Given the description of an element on the screen output the (x, y) to click on. 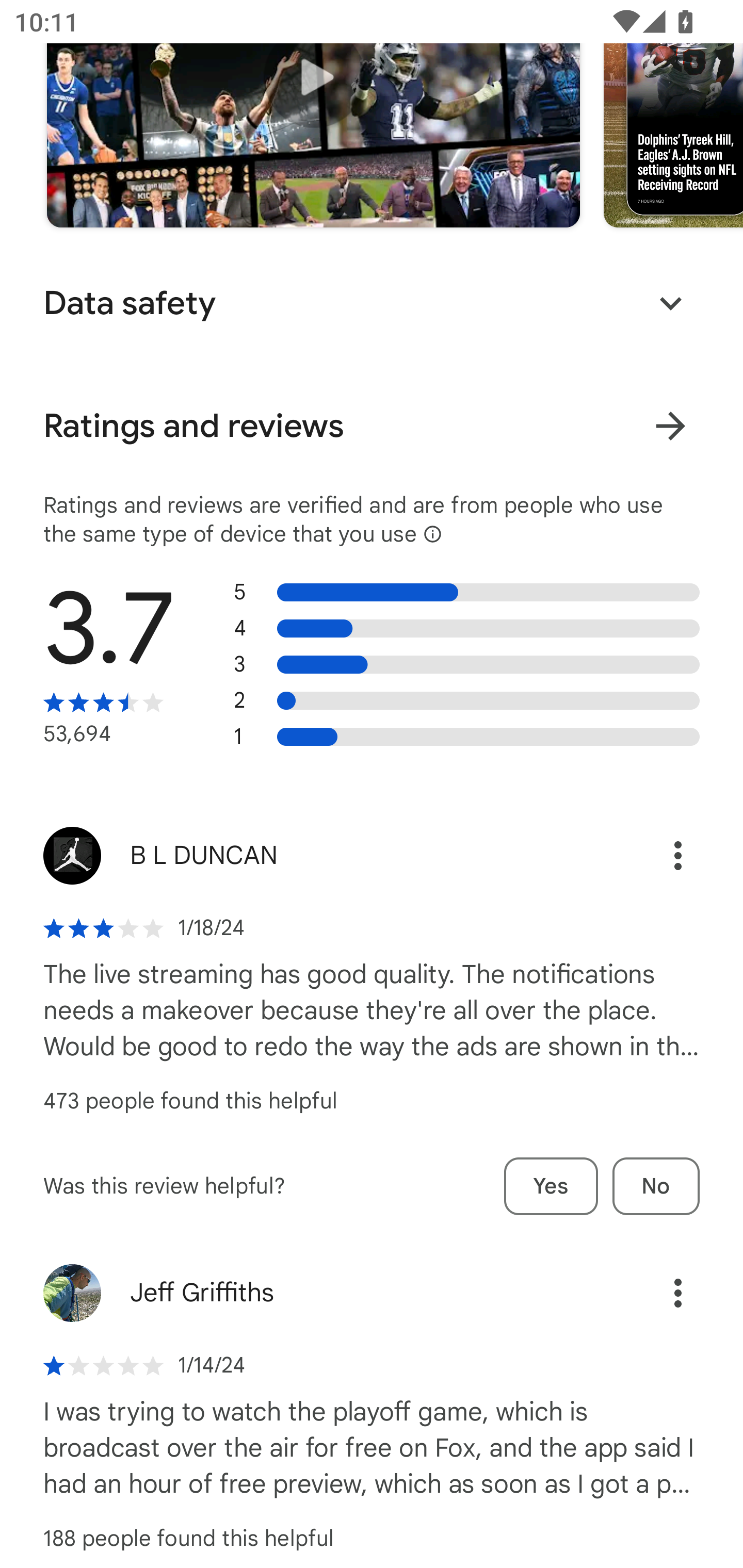
Play trailer for "FOX Sports: Watch Live" (313, 113)
Data safety Expand (371, 303)
Expand (670, 303)
Ratings and reviews View all ratings and reviews (371, 425)
View all ratings and reviews (670, 425)
Options (655, 855)
Yes (550, 1186)
No (655, 1186)
Options (655, 1292)
